Given the description of an element on the screen output the (x, y) to click on. 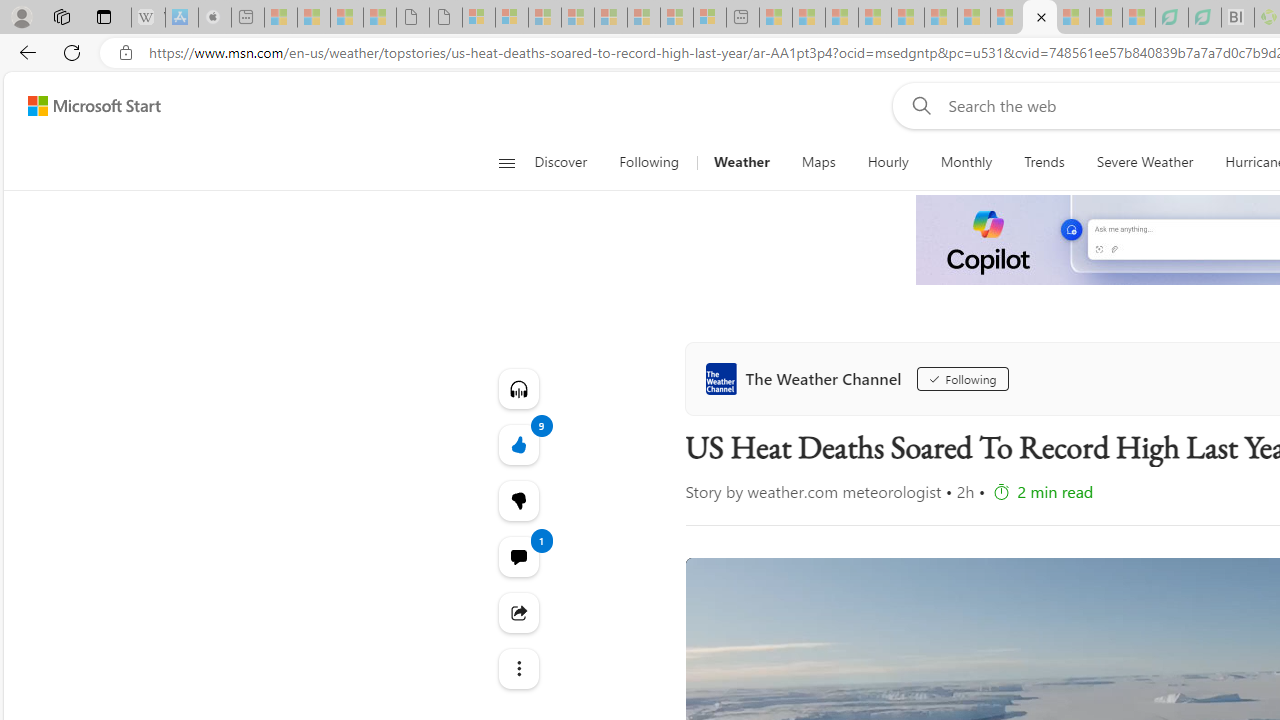
View comments 1 Comment (517, 556)
